Given the description of an element on the screen output the (x, y) to click on. 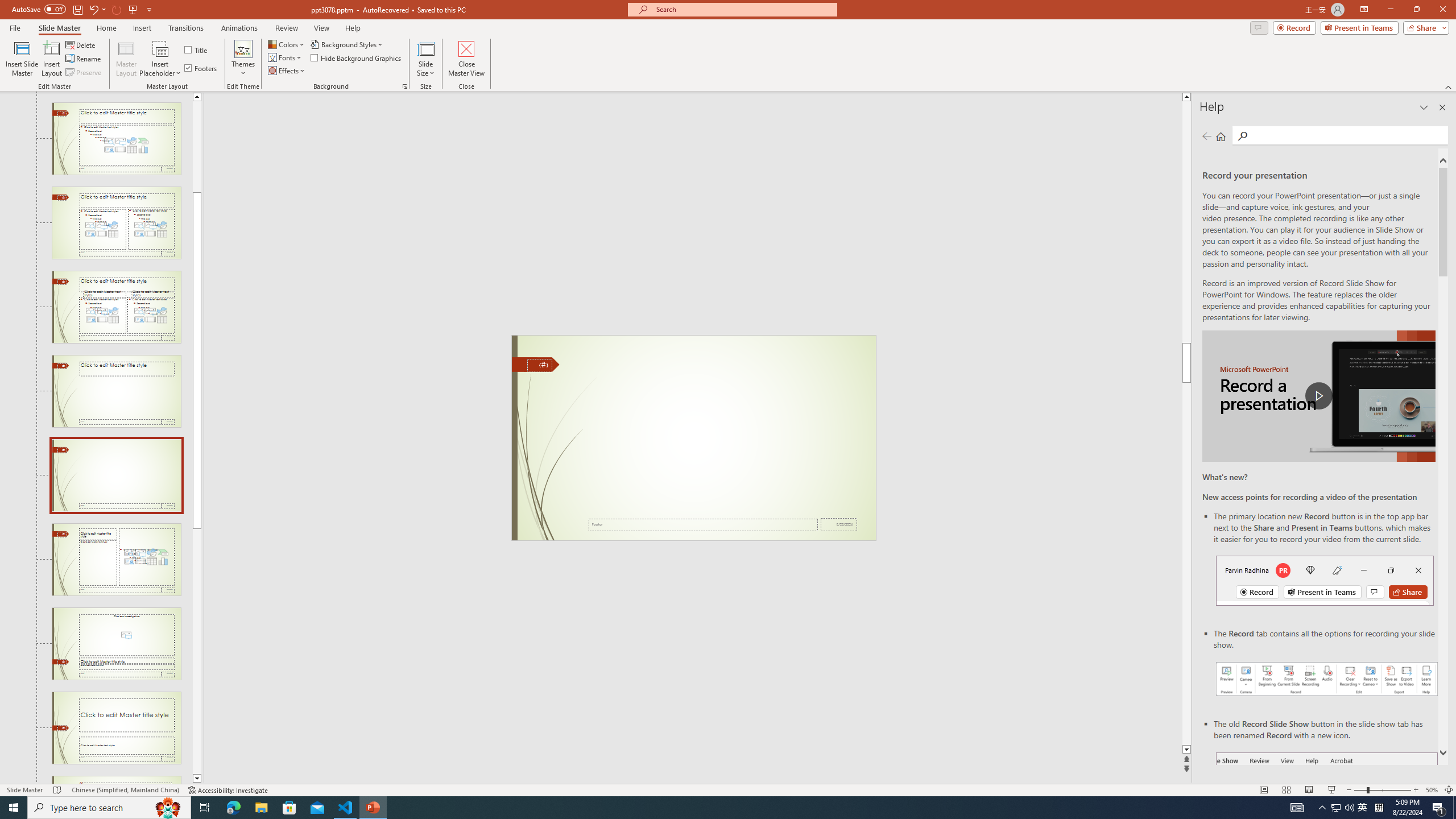
Close Master View (466, 58)
Insert Layout (51, 58)
Slide Number (539, 364)
Previous page (1206, 136)
